Given the description of an element on the screen output the (x, y) to click on. 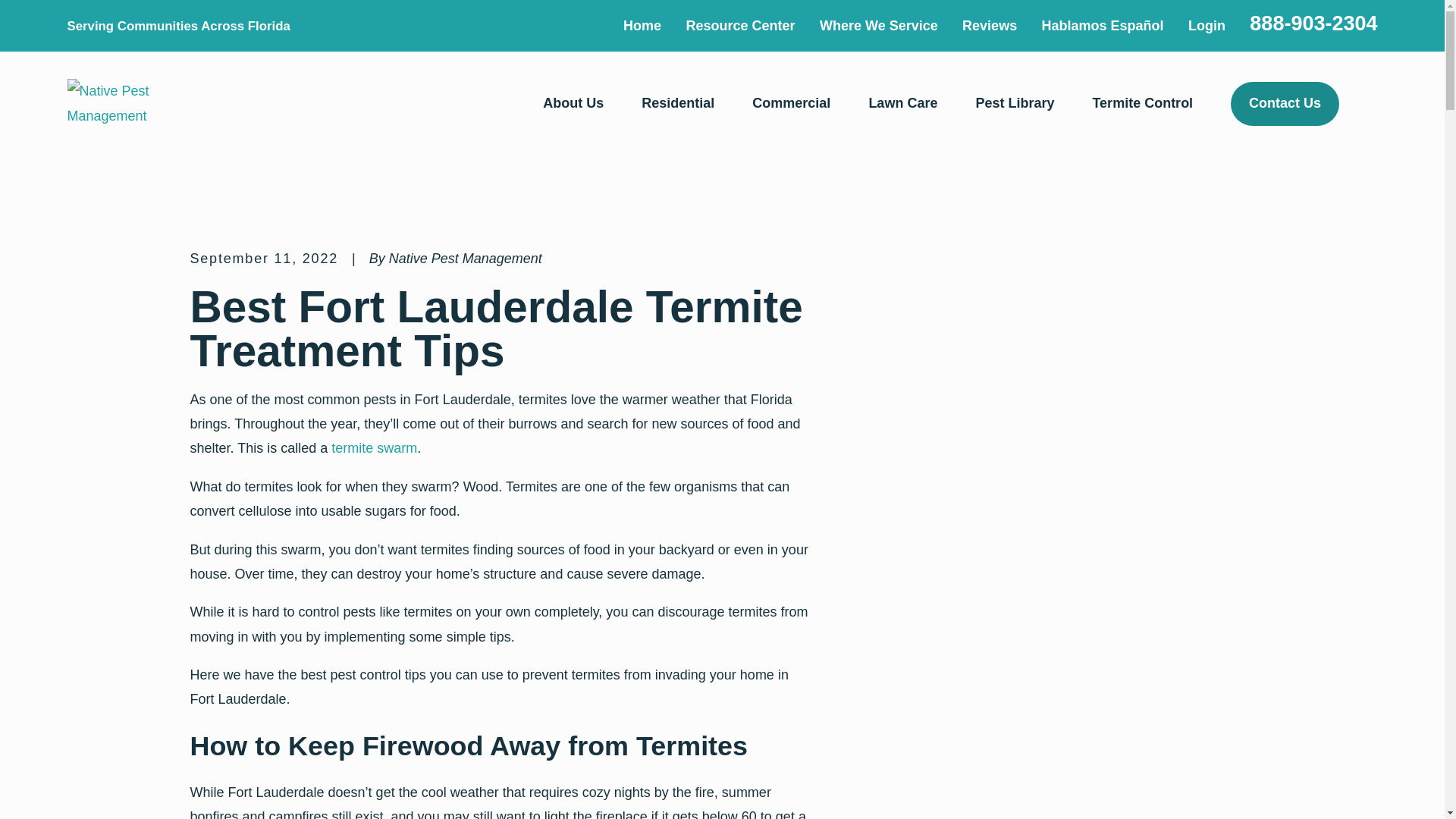
888-903-2304 (1313, 23)
Where We Service (878, 25)
Login (1206, 25)
Reviews (989, 25)
Pest Library (1014, 103)
Resource Center (739, 25)
Home (642, 25)
Lawn Care (902, 103)
Residential (678, 103)
Home (123, 102)
